Given the description of an element on the screen output the (x, y) to click on. 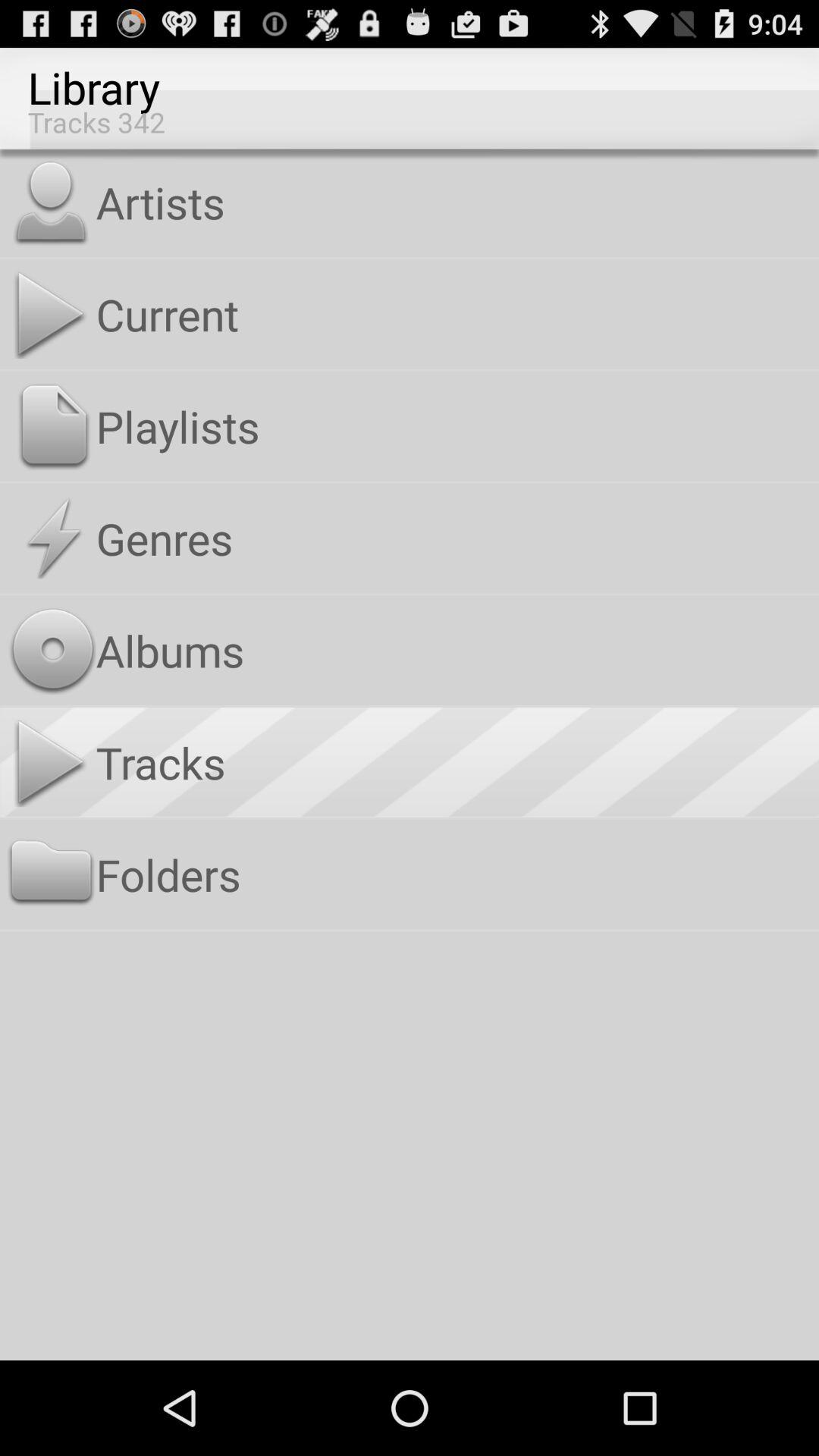
tap genres item (454, 538)
